Given the description of an element on the screen output the (x, y) to click on. 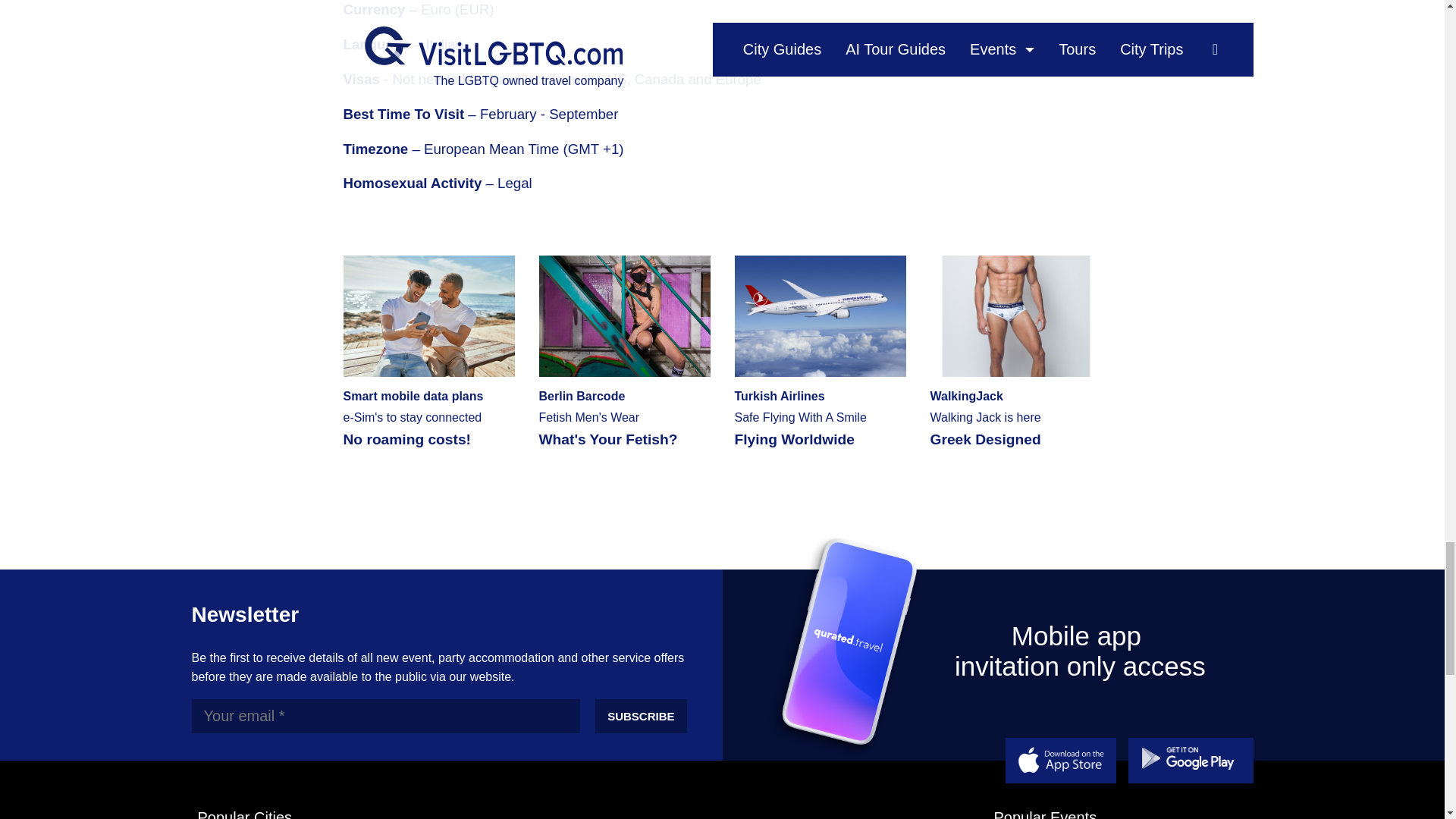
SUBSCRIBE (1015, 351)
